Given the description of an element on the screen output the (x, y) to click on. 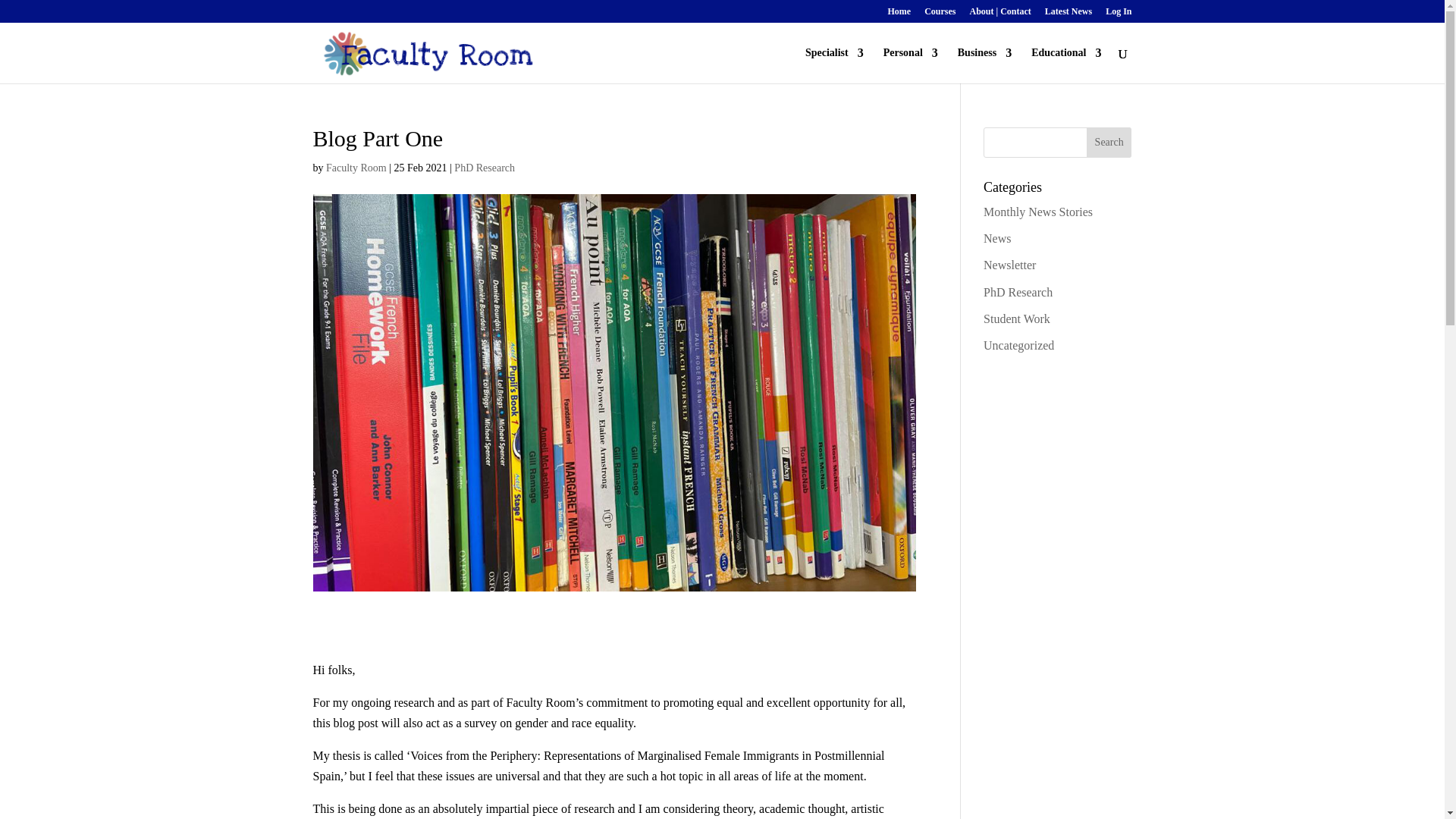
Home (898, 14)
Personal (910, 65)
Latest News (1068, 14)
Specialist (834, 65)
Business (984, 65)
Educational (1065, 65)
Courses (939, 14)
Log In (1118, 14)
Services (1065, 65)
Posts by Faculty Room (356, 167)
